Given the description of an element on the screen output the (x, y) to click on. 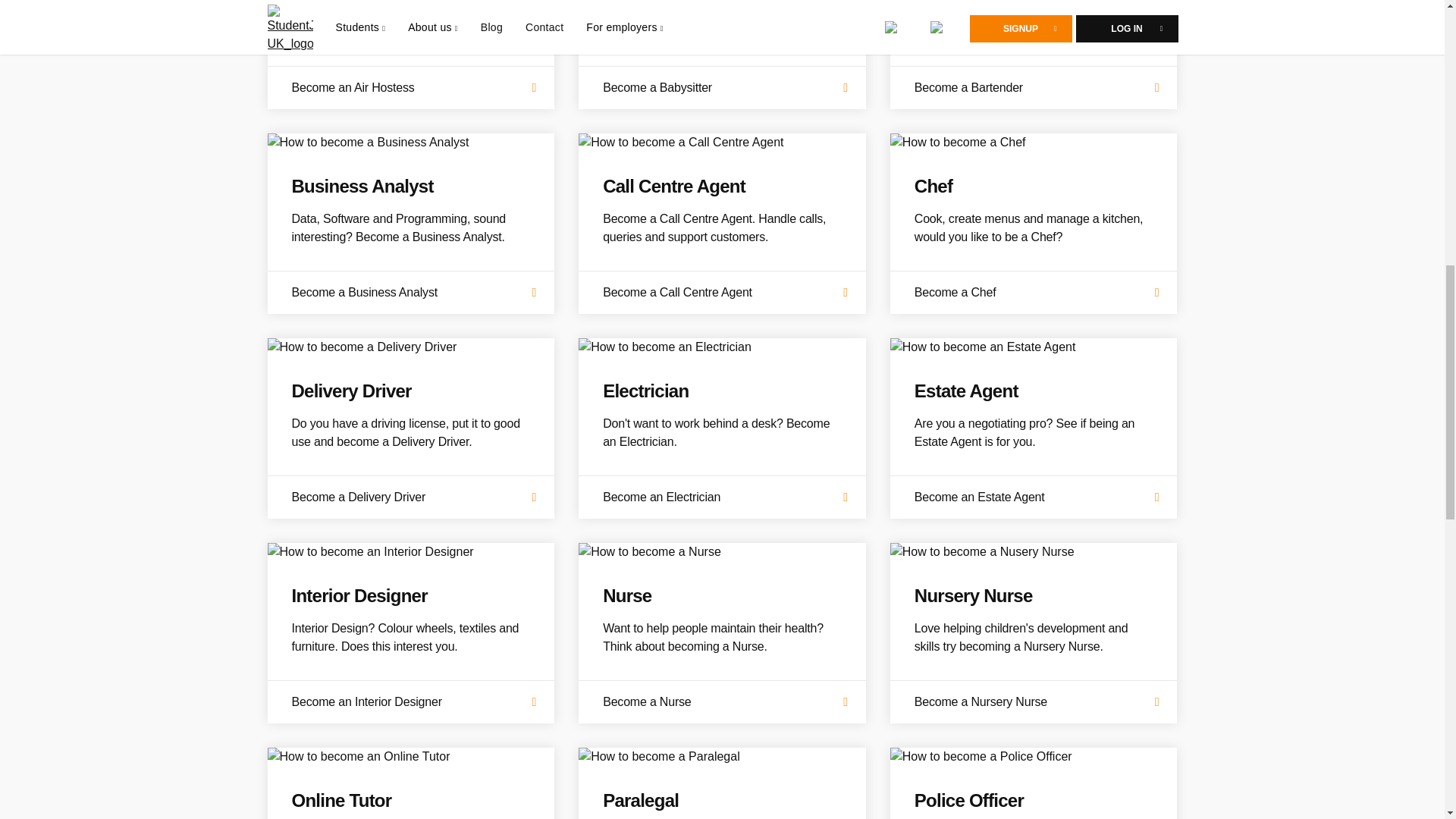
How to become an Online Tutor (410, 756)
How to become an Electrician (722, 347)
How to become a Chef (1033, 142)
How to become a Call Centre Agent (722, 142)
How to become a Business Analyst (410, 142)
How to become an Interior Designer (410, 551)
How to become a Nursery Nurse (1033, 551)
How to become an Estate Agent (1033, 347)
How to become a Nurse (722, 551)
How to become a Delivery Driver (410, 347)
How to become a Paralegal (722, 756)
